Given the description of an element on the screen output the (x, y) to click on. 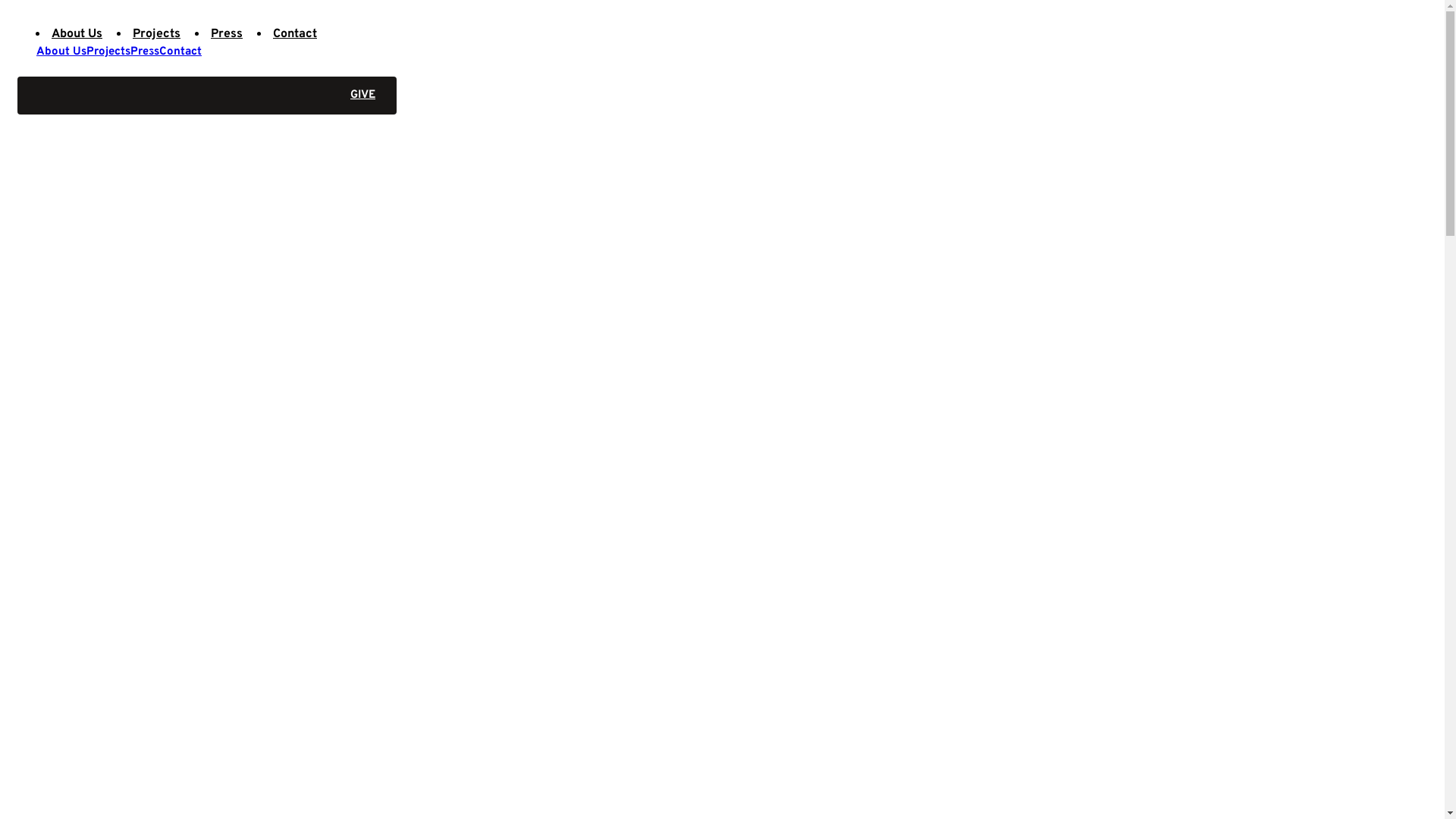
Projects Element type: text (108, 51)
About Us Element type: text (76, 33)
Press Element type: text (144, 51)
GIVE Element type: text (206, 95)
About Us Element type: text (61, 51)
Contact Element type: text (180, 51)
Press Element type: text (226, 33)
Contact Element type: text (294, 33)
Projects Element type: text (156, 33)
